Given the description of an element on the screen output the (x, y) to click on. 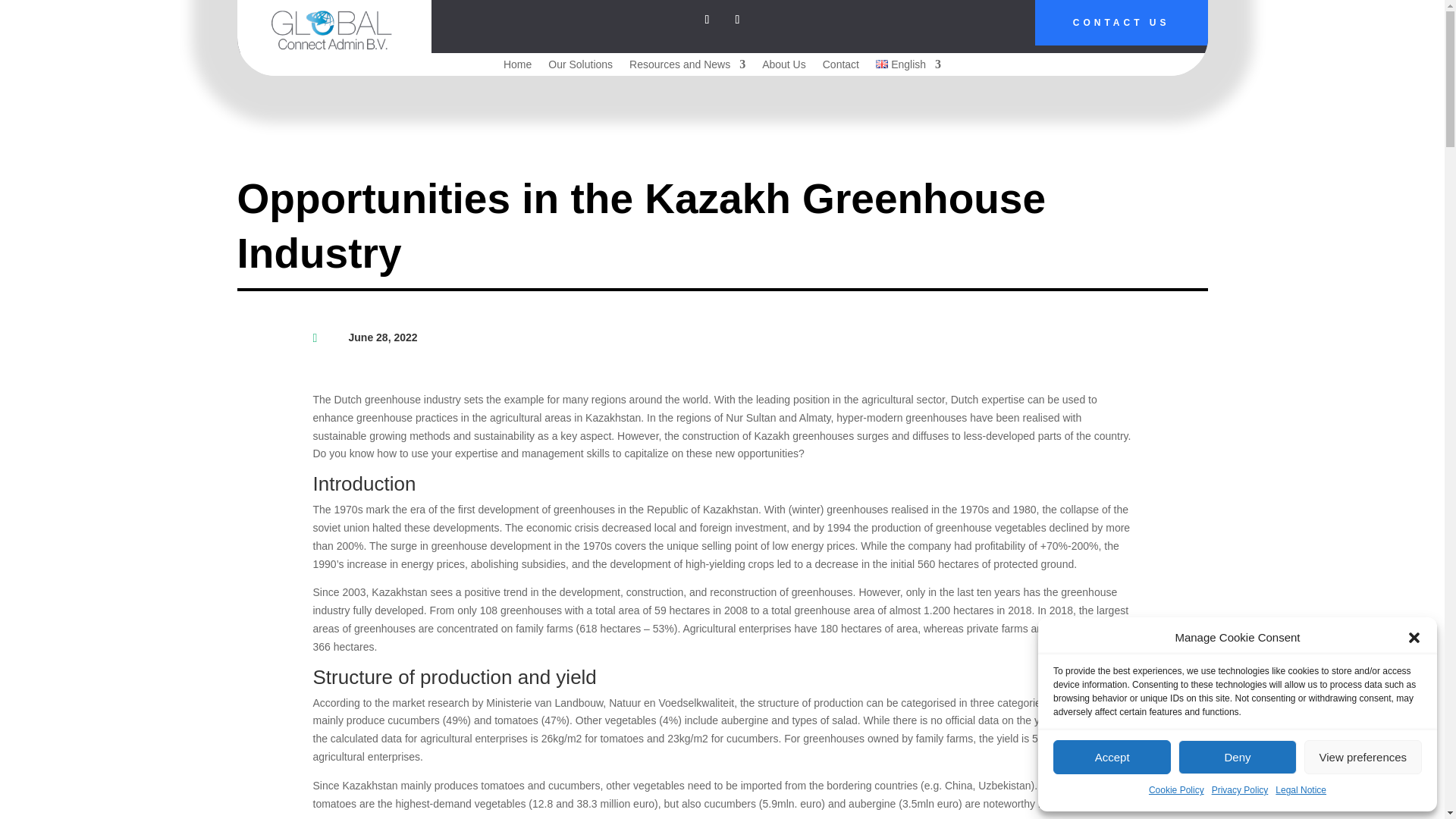
Deny (1236, 756)
Privacy Policy (1239, 791)
Cookie Policy (1176, 791)
English (908, 67)
Accept (1111, 756)
Contact (840, 67)
View preferences (1363, 756)
Our Solutions (580, 67)
logo gca (333, 28)
Legal Notice (1300, 791)
CONTACT US (1121, 22)
Follow on LinkedIn (706, 19)
Home (517, 67)
Resources and News (686, 67)
Follow on google-plus (737, 19)
